Given the description of an element on the screen output the (x, y) to click on. 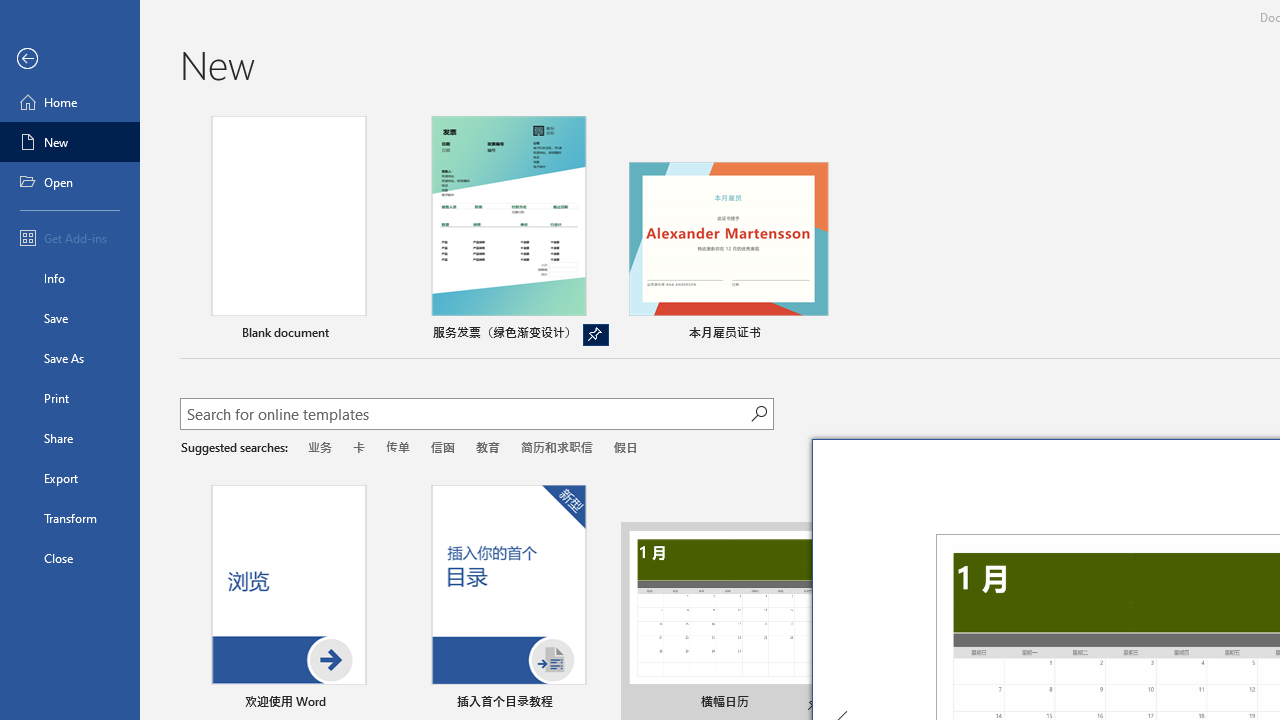
Start searching (758, 413)
Get Add-ins (69, 237)
Search for online templates (465, 416)
Export (69, 477)
Info (69, 277)
New (69, 141)
Blank document (288, 231)
Save As (69, 357)
Unpin from list (595, 335)
